Given the description of an element on the screen output the (x, y) to click on. 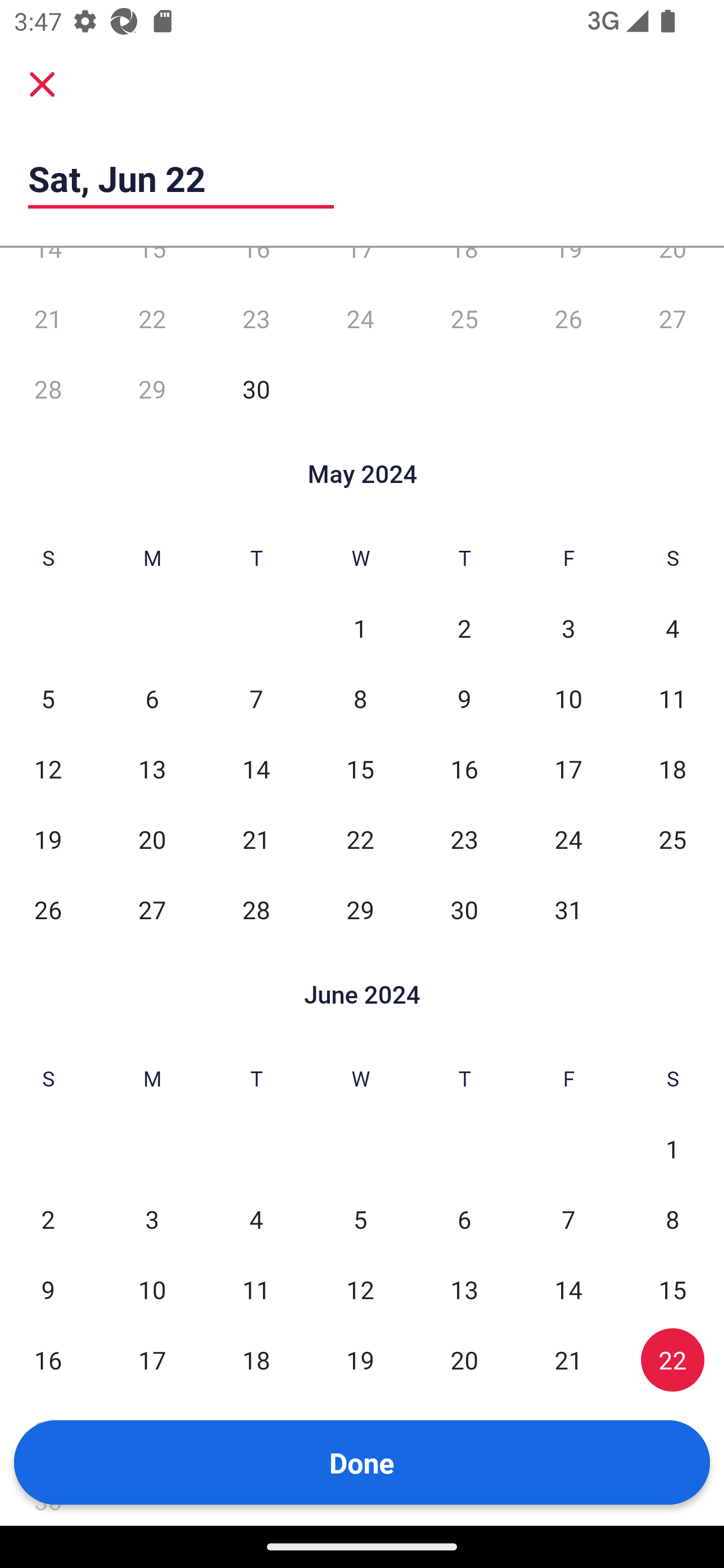
Cancel (41, 83)
Sat, Jun 22 (180, 178)
21 Sun, Apr 21, Not Selected (48, 318)
22 Mon, Apr 22, Not Selected (152, 318)
23 Tue, Apr 23, Not Selected (256, 318)
24 Wed, Apr 24, Not Selected (360, 318)
25 Thu, Apr 25, Not Selected (464, 318)
26 Fri, Apr 26, Not Selected (568, 318)
27 Sat, Apr 27, Not Selected (672, 318)
28 Sun, Apr 28, Not Selected (48, 389)
29 Mon, Apr 29, Not Selected (152, 389)
30 Tue, Apr 30, Not Selected (256, 389)
1 Wed, May 1, Not Selected (360, 627)
2 Thu, May 2, Not Selected (464, 627)
3 Fri, May 3, Not Selected (568, 627)
4 Sat, May 4, Not Selected (672, 627)
5 Sun, May 5, Not Selected (48, 698)
6 Mon, May 6, Not Selected (152, 698)
7 Tue, May 7, Not Selected (256, 698)
8 Wed, May 8, Not Selected (360, 698)
9 Thu, May 9, Not Selected (464, 698)
10 Fri, May 10, Not Selected (568, 698)
11 Sat, May 11, Not Selected (672, 698)
12 Sun, May 12, Not Selected (48, 768)
13 Mon, May 13, Not Selected (152, 768)
14 Tue, May 14, Not Selected (256, 768)
15 Wed, May 15, Not Selected (360, 768)
16 Thu, May 16, Not Selected (464, 768)
17 Fri, May 17, Not Selected (568, 768)
18 Sat, May 18, Not Selected (672, 768)
19 Sun, May 19, Not Selected (48, 839)
20 Mon, May 20, Not Selected (152, 839)
21 Tue, May 21, Not Selected (256, 839)
22 Wed, May 22, Not Selected (360, 839)
23 Thu, May 23, Not Selected (464, 839)
24 Fri, May 24, Not Selected (568, 839)
25 Sat, May 25, Not Selected (672, 839)
26 Sun, May 26, Not Selected (48, 909)
27 Mon, May 27, Not Selected (152, 909)
28 Tue, May 28, Not Selected (256, 909)
29 Wed, May 29, Not Selected (360, 909)
30 Thu, May 30, Not Selected (464, 909)
31 Fri, May 31, Not Selected (568, 909)
1 Sat, Jun 1, Not Selected (672, 1148)
2 Sun, Jun 2, Not Selected (48, 1218)
3 Mon, Jun 3, Not Selected (152, 1218)
4 Tue, Jun 4, Not Selected (256, 1218)
5 Wed, Jun 5, Not Selected (360, 1218)
6 Thu, Jun 6, Not Selected (464, 1218)
7 Fri, Jun 7, Not Selected (568, 1218)
8 Sat, Jun 8, Not Selected (672, 1218)
9 Sun, Jun 9, Not Selected (48, 1289)
10 Mon, Jun 10, Not Selected (152, 1289)
11 Tue, Jun 11, Not Selected (256, 1289)
12 Wed, Jun 12, Not Selected (360, 1289)
13 Thu, Jun 13, Not Selected (464, 1289)
14 Fri, Jun 14, Not Selected (568, 1289)
15 Sat, Jun 15, Not Selected (672, 1289)
16 Sun, Jun 16, Not Selected (48, 1359)
17 Mon, Jun 17, Not Selected (152, 1359)
18 Tue, Jun 18, Not Selected (256, 1359)
19 Wed, Jun 19, Not Selected (360, 1359)
20 Thu, Jun 20, Not Selected (464, 1359)
21 Fri, Jun 21, Not Selected (568, 1359)
22 Sat, Jun 22, Selected (672, 1359)
Done Button Done (361, 1462)
